Given the description of an element on the screen output the (x, y) to click on. 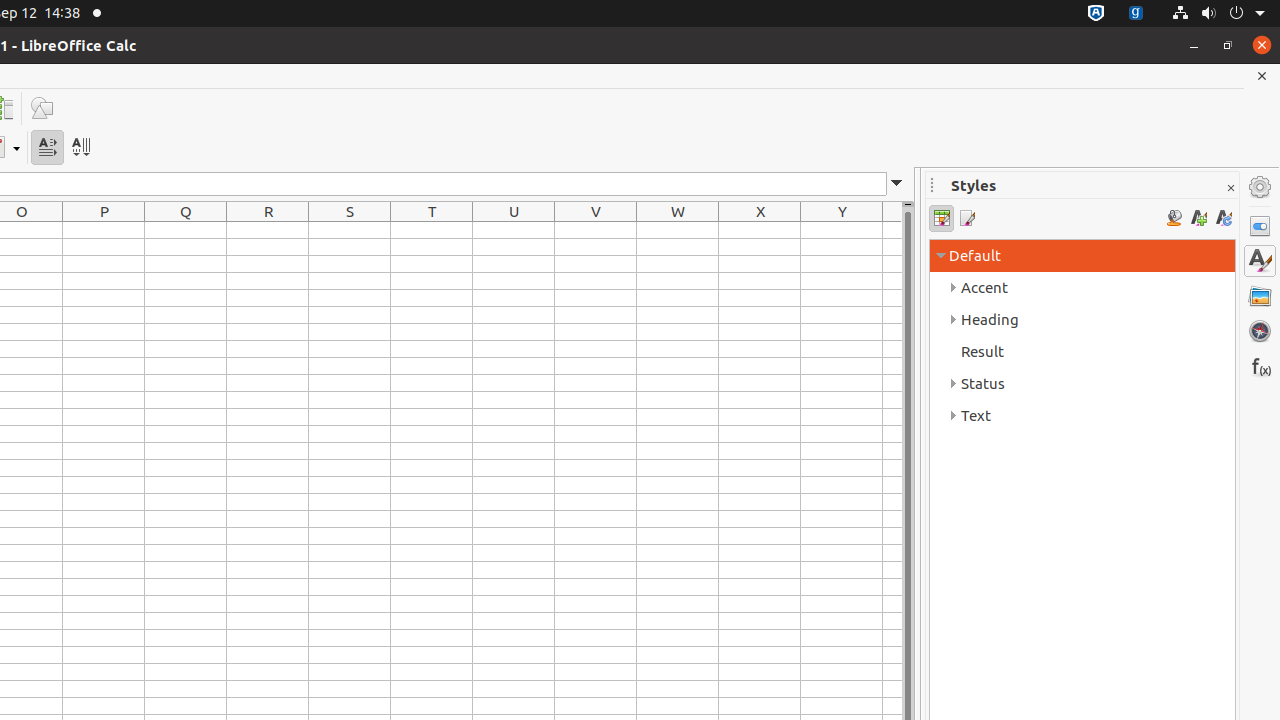
Fill Format Mode Element type: push-button (1173, 218)
R1 Element type: table-cell (268, 230)
P1 Element type: table-cell (104, 230)
T1 Element type: table-cell (432, 230)
Draw Functions Element type: toggle-button (41, 108)
